Given the description of an element on the screen output the (x, y) to click on. 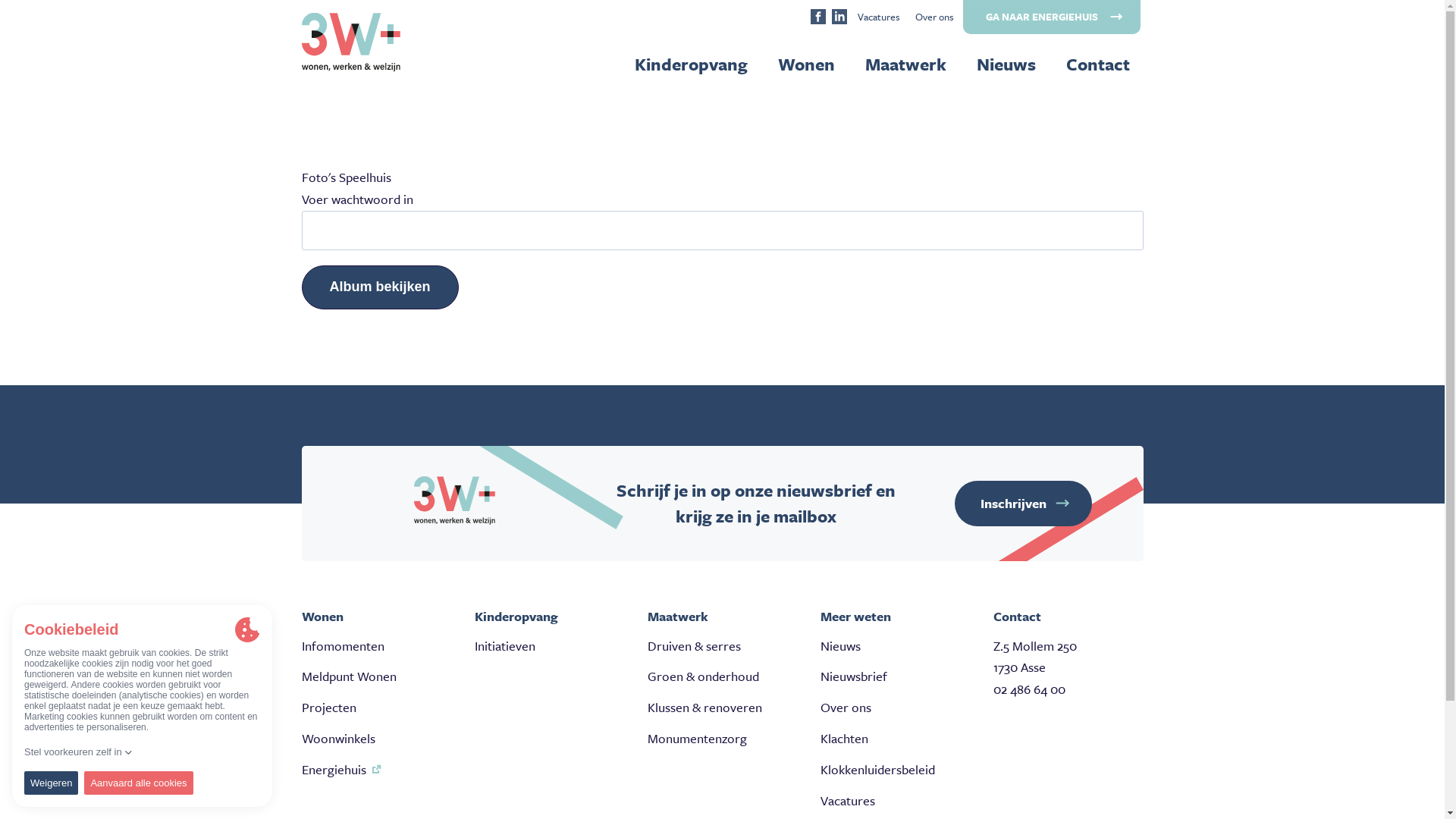
Energiehuis Element type: text (333, 768)
Nieuwsbrief Element type: text (853, 675)
Druiven & serres Element type: text (693, 645)
Vacatures Element type: text (877, 16)
Inschrijven Element type: text (1023, 503)
Klussen & renoveren Element type: text (704, 706)
Overslaan en naar de inhoud gaan Element type: text (0, 0)
Klokkenluidersbeleid Element type: text (877, 768)
Nieuws Element type: text (840, 645)
Wonen Element type: text (806, 63)
Klachten Element type: text (844, 737)
Maatwerk Element type: text (904, 63)
Projecten Element type: text (328, 706)
Kinderopvang Element type: text (689, 63)
Over ons Element type: text (933, 16)
Nieuws Element type: text (1005, 63)
GA NAAR ENERGIEHUIS Element type: text (1051, 17)
Initiatieven Element type: text (504, 645)
Album bekijken Element type: text (379, 287)
Shape Created with Sketch. Element type: text (838, 18)
Monumentenzorg Element type: text (696, 737)
Vacatures Element type: text (847, 799)
02 486 64 00 Element type: text (1029, 688)
Shape Created with Sketch. Element type: text (817, 18)
Woonwinkels Element type: text (338, 737)
Contact Element type: text (1097, 63)
Infomomenten Element type: text (342, 645)
Meldpunt Wonen Element type: text (348, 675)
Groen & onderhoud Element type: text (703, 675)
Over ons Element type: text (845, 706)
